Given the description of an element on the screen output the (x, y) to click on. 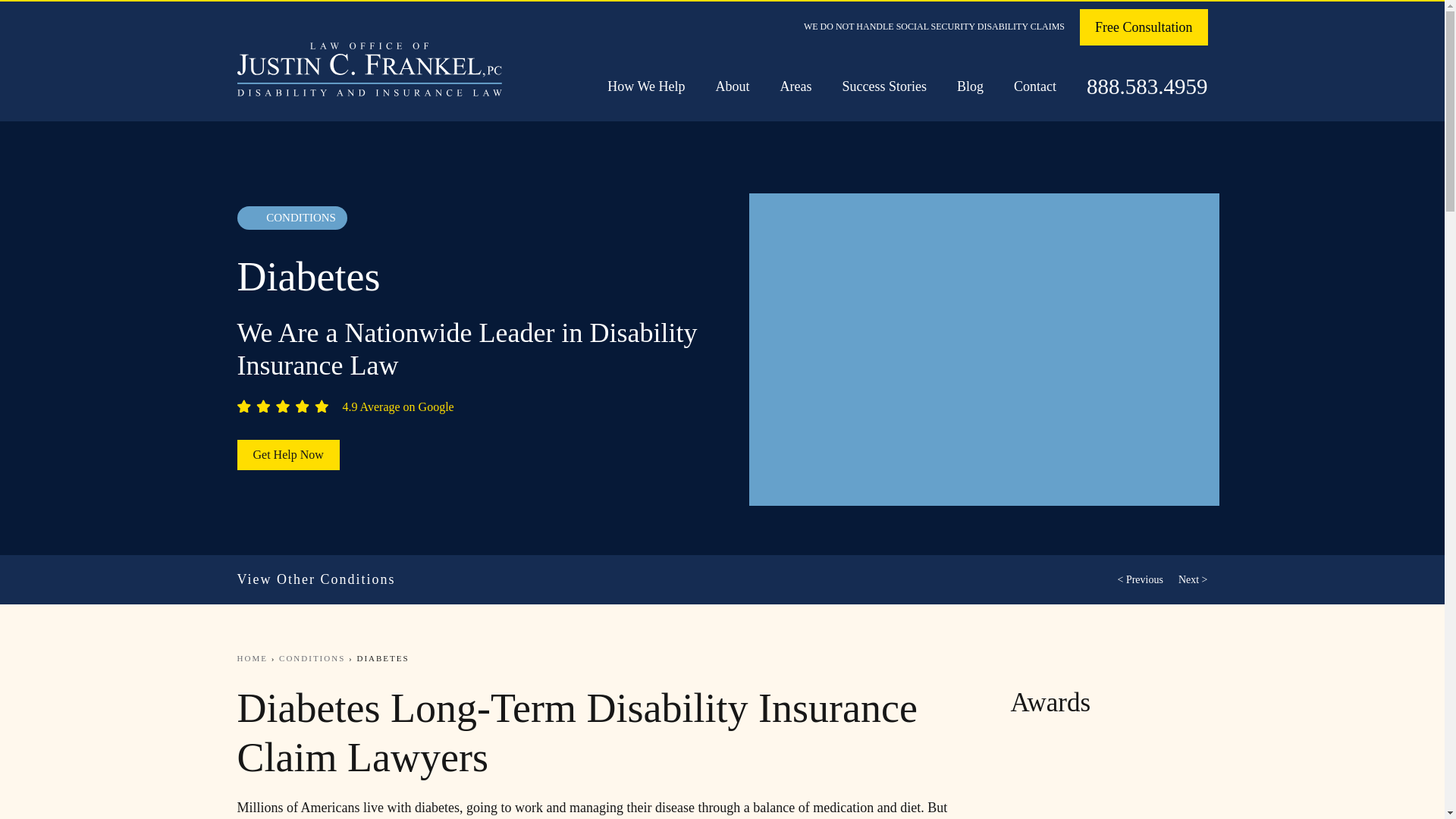
Home (250, 657)
Conditions (312, 657)
How We Help (645, 87)
Free Consultation (1144, 27)
